Given the description of an element on the screen output the (x, y) to click on. 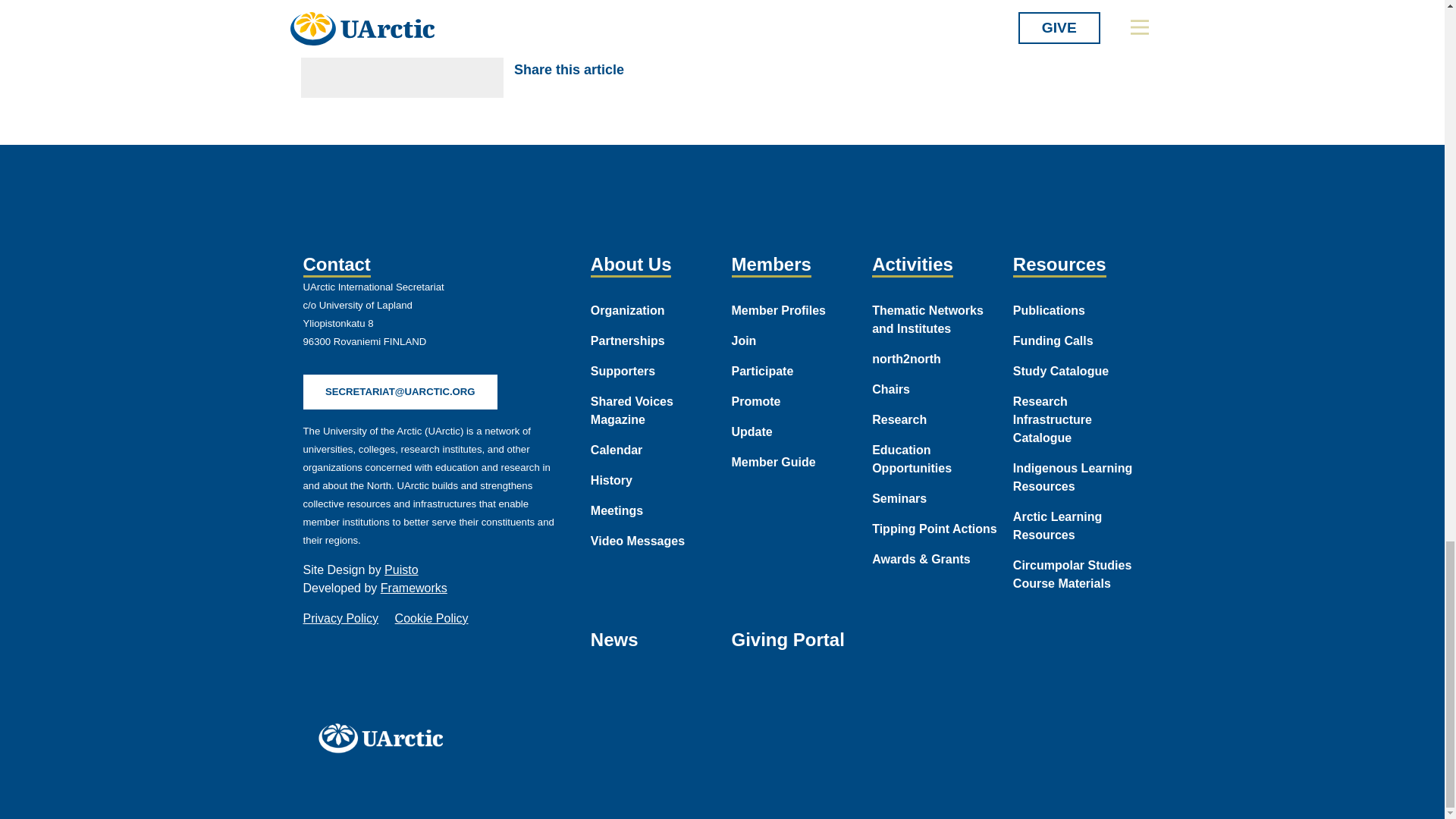
UArctic 2021 (385, 737)
Cookie Policy (431, 617)
Share on Facebook (650, 69)
Privacy Policy (340, 617)
Share on Twitter (686, 69)
